Given the description of an element on the screen output the (x, y) to click on. 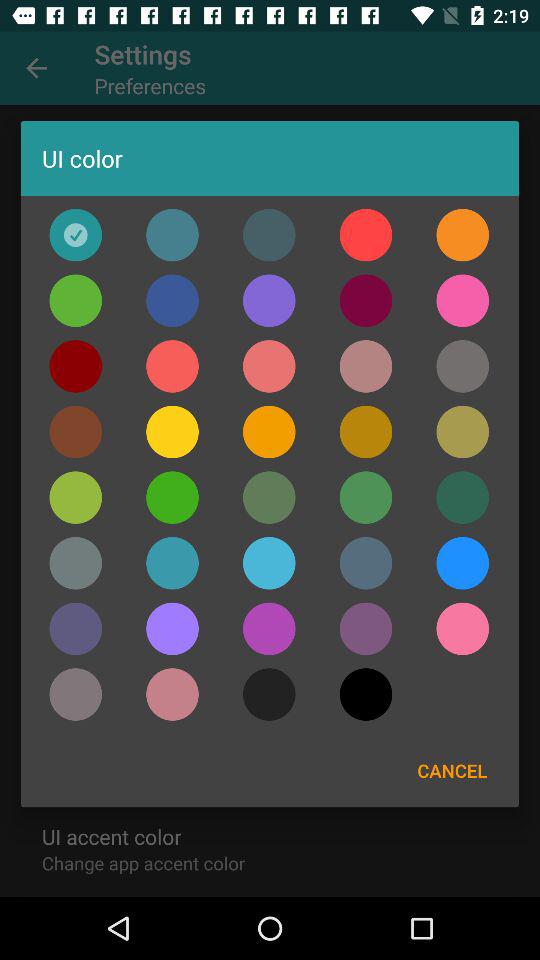
color option (462, 563)
